Given the description of an element on the screen output the (x, y) to click on. 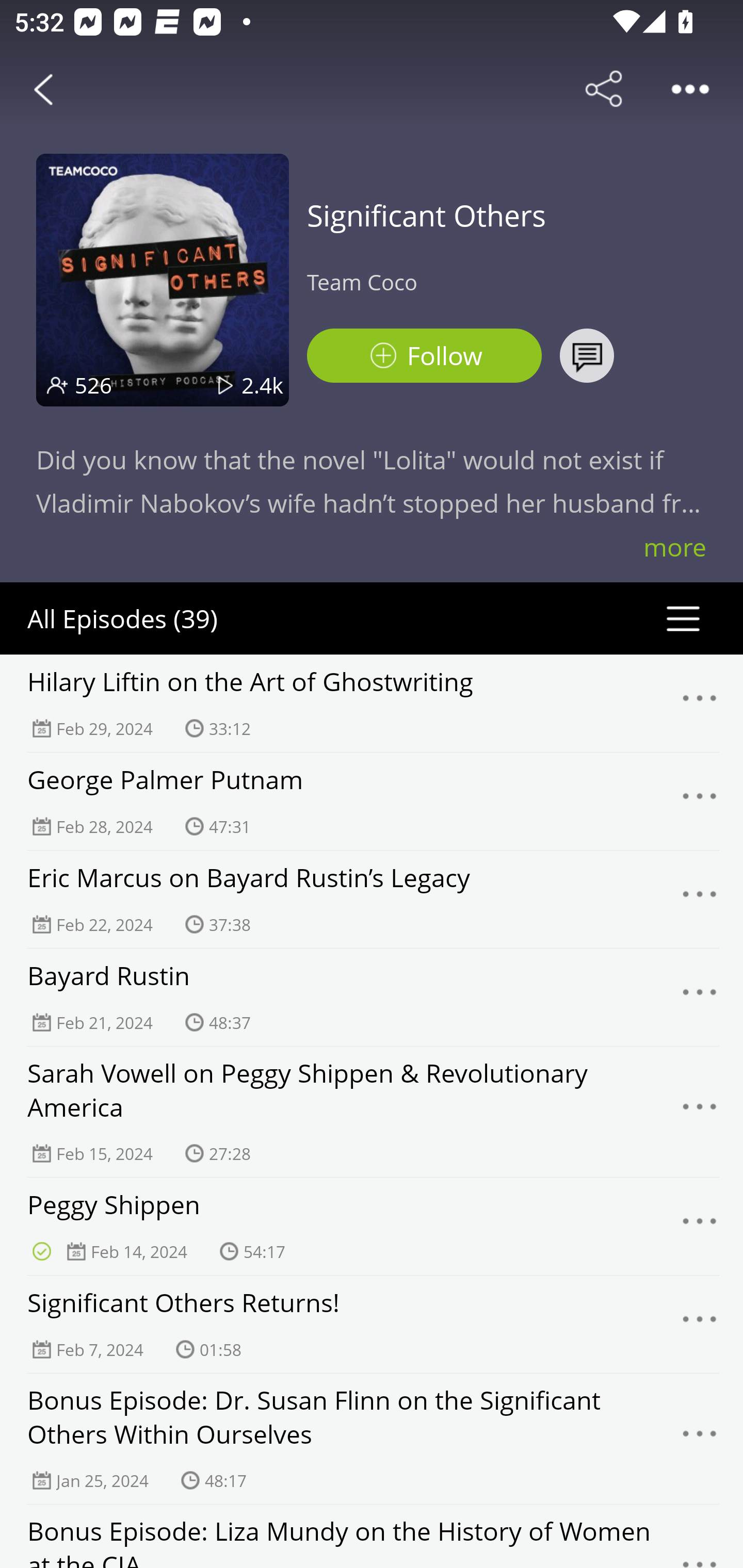
Back (43, 88)
Podbean Follow (423, 355)
526 (93, 384)
more (674, 546)
Menu (699, 703)
George Palmer Putnam Feb 28, 2024 47:31 Menu (371, 800)
Menu (699, 801)
Menu (699, 899)
Bayard Rustin Feb 21, 2024 48:37 Menu (371, 996)
Menu (699, 997)
Menu (699, 1112)
Peggy Shippen Feb 14, 2024 54:17 Menu (371, 1225)
Menu (699, 1226)
Significant Others Returns! Feb 7, 2024 01:58 Menu (371, 1323)
Menu (699, 1324)
Menu (699, 1438)
